Given the description of an element on the screen output the (x, y) to click on. 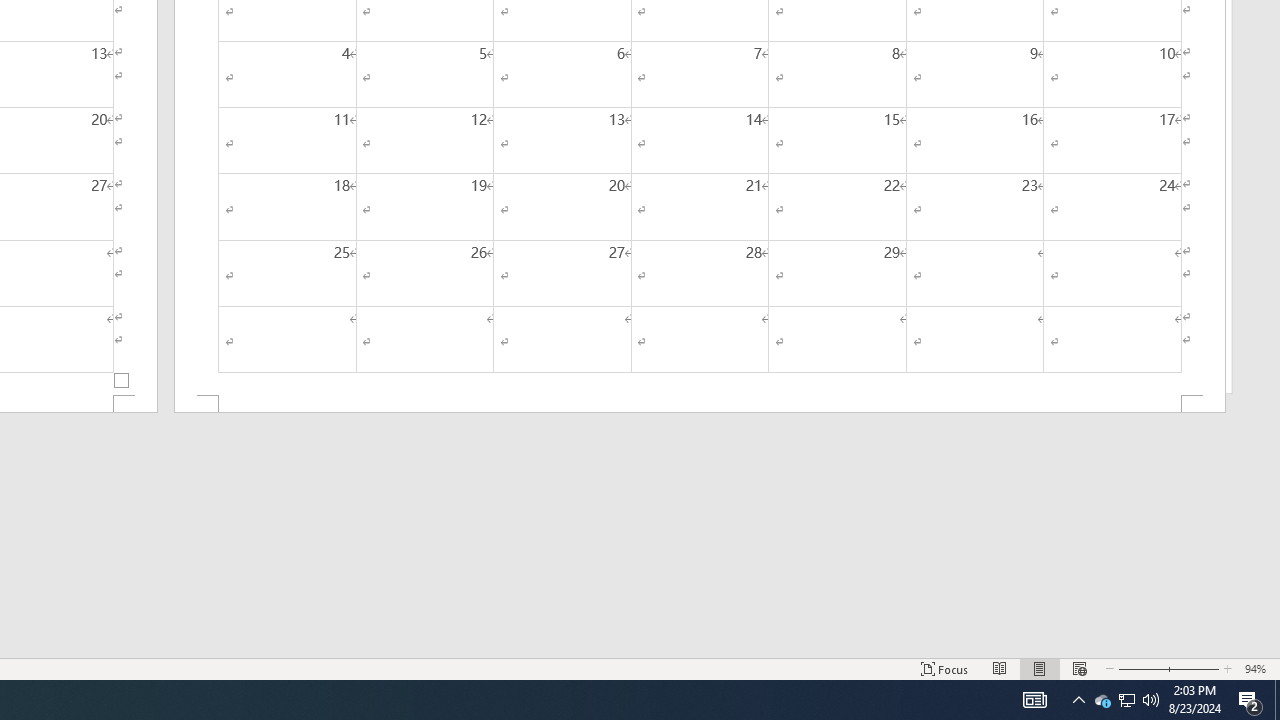
Zoom In (1193, 668)
Action Center, 2 new notifications (1102, 699)
